Given the description of an element on the screen output the (x, y) to click on. 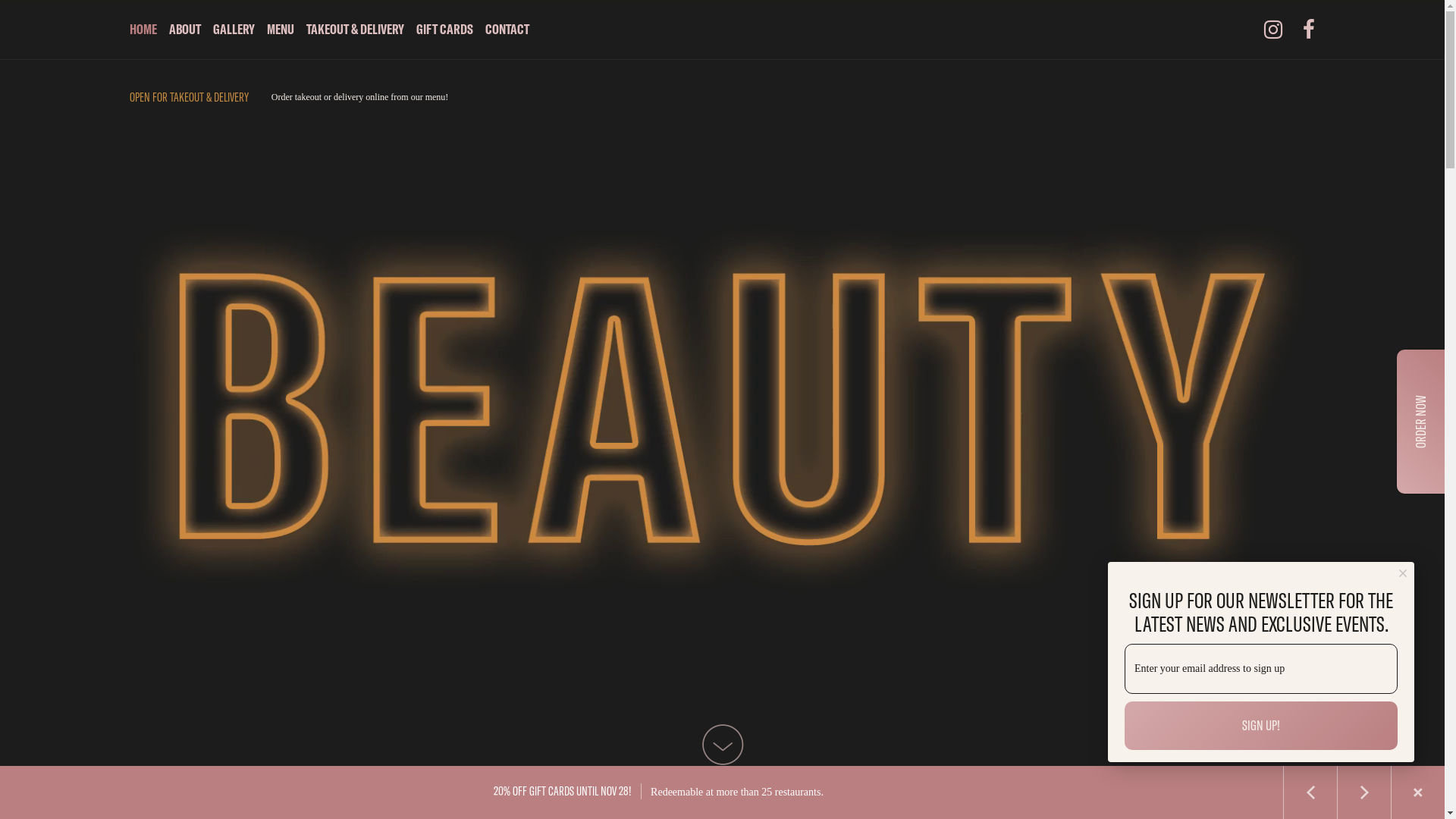
Sign Up! Element type: text (1260, 725)
HOME Element type: text (146, 29)
GIFT CARDS Element type: text (444, 29)
TAKEOUT & DELIVERY Element type: text (355, 29)
Instagram Element type: text (1273, 30)
ABOUT Element type: text (185, 29)
CONTACT Element type: text (507, 29)
MENU Element type: text (280, 29)
Facebook Element type: text (1308, 30)
GALLERY Element type: text (233, 29)
